Given the description of an element on the screen output the (x, y) to click on. 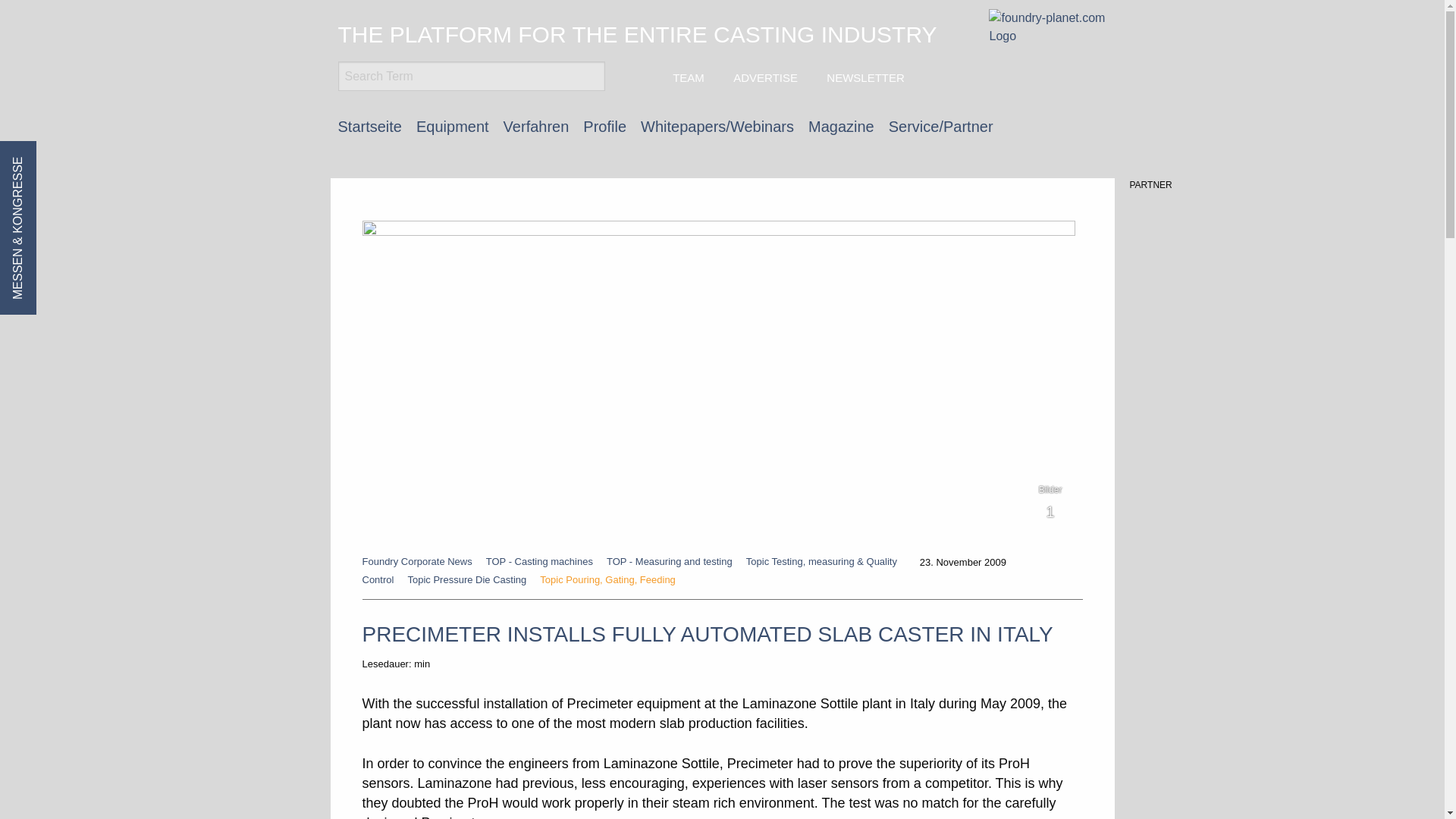
Equipment (452, 126)
Magazine (841, 126)
Advertise (762, 77)
Verfahren (536, 126)
Equipment (452, 126)
NEWSLETTER (863, 77)
Newsletter (863, 77)
Verfahren (536, 126)
Profile (604, 126)
Magazine (841, 126)
